Given the description of an element on the screen output the (x, y) to click on. 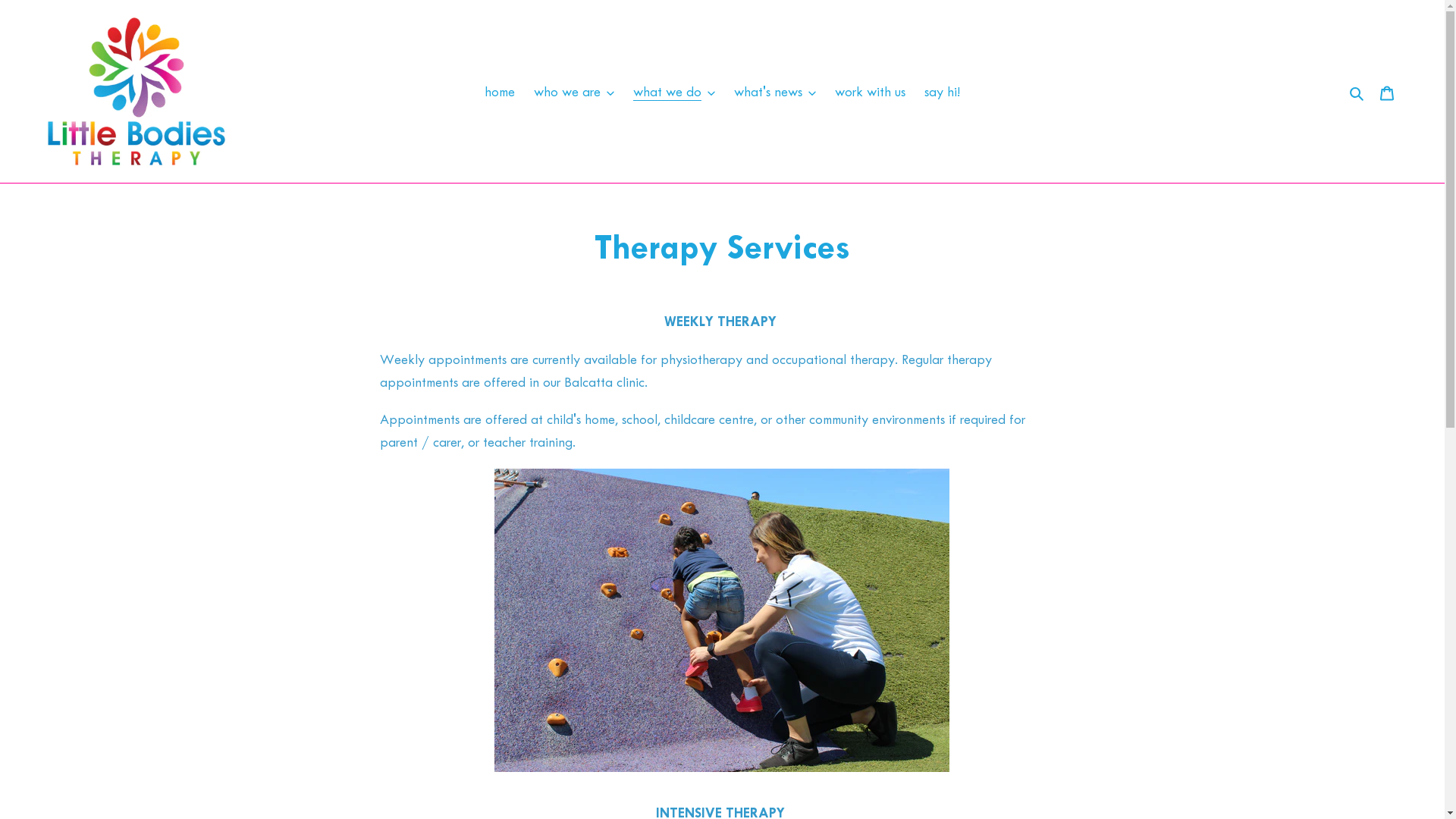
work with us Element type: text (870, 91)
who we are Element type: text (573, 91)
what we do Element type: text (673, 91)
what's news Element type: text (774, 91)
say hi! Element type: text (941, 91)
Cart Element type: text (1386, 91)
Search Element type: text (1357, 91)
home Element type: text (499, 91)
